Given the description of an element on the screen output the (x, y) to click on. 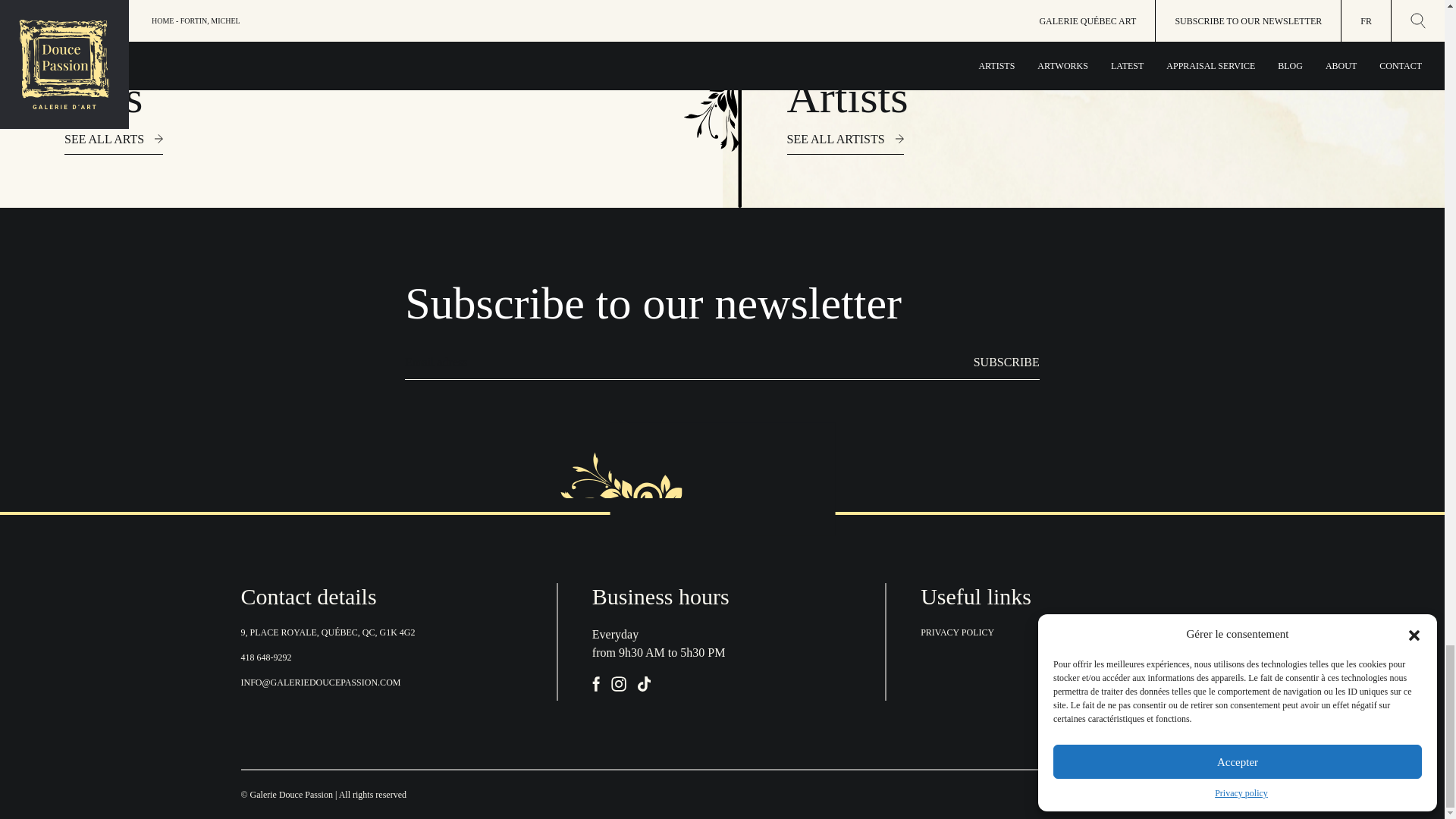
Ouvrir Agence Option (1093, 794)
Ouvrir l'Antidote (1175, 794)
